Given the description of an element on the screen output the (x, y) to click on. 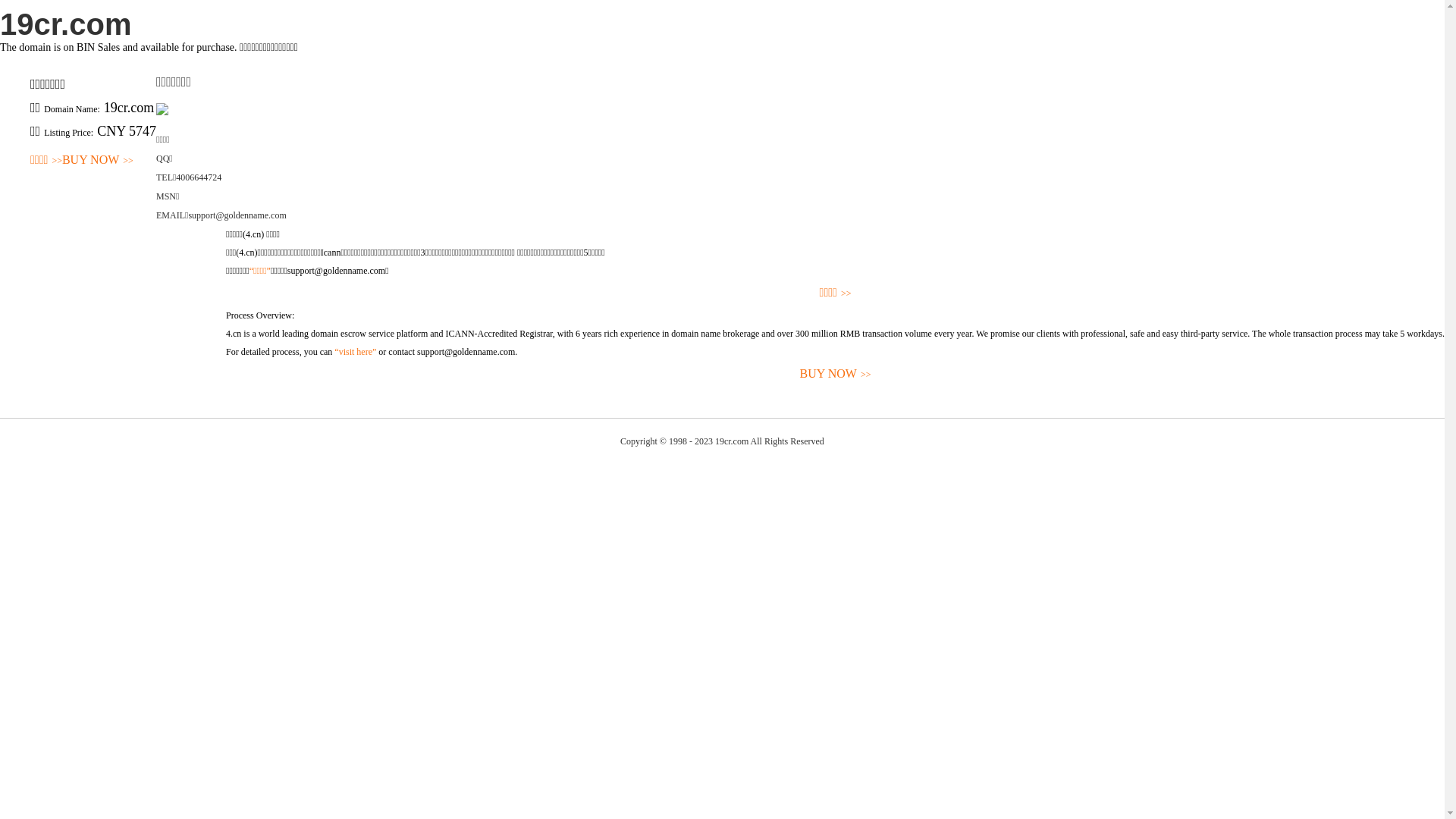
BUY NOW>> Element type: text (97, 160)
BUY NOW>> Element type: text (834, 373)
